Given the description of an element on the screen output the (x, y) to click on. 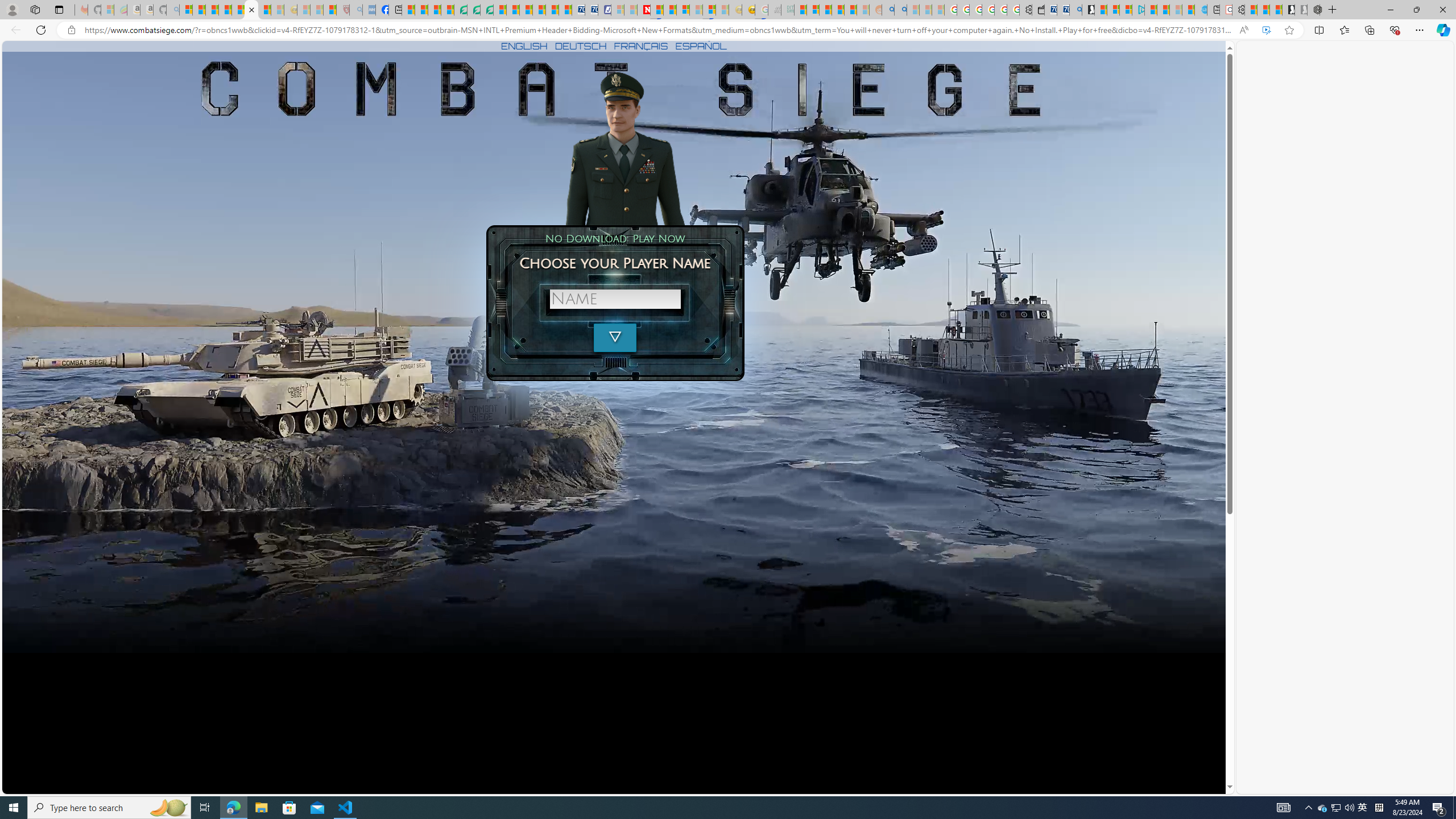
DEUTSCH (580, 45)
Enhance video (1266, 29)
Microsoft Word - consumer-privacy address update 2.2021 (486, 9)
Name (614, 298)
